Given the description of an element on the screen output the (x, y) to click on. 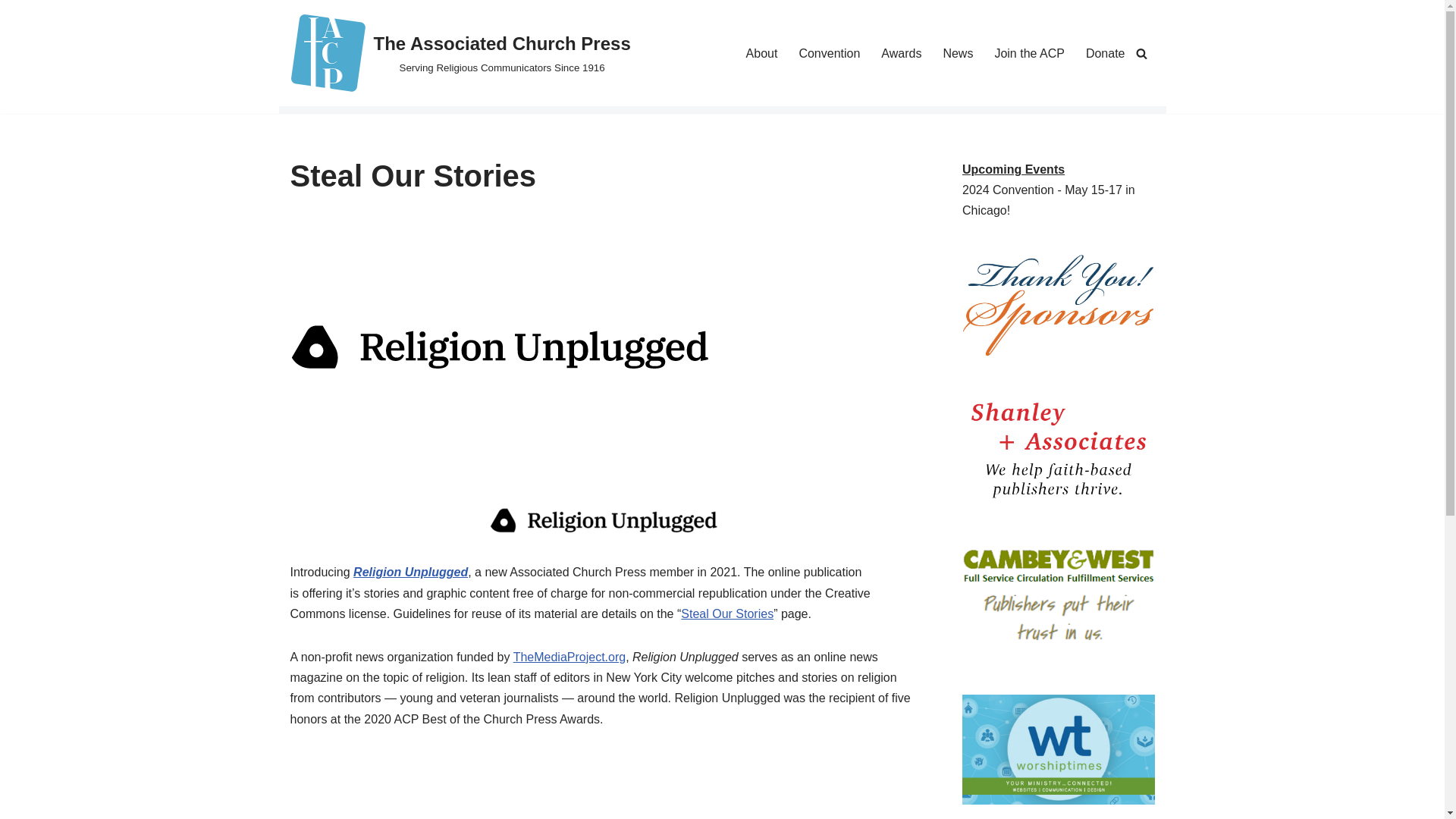
Convention (828, 53)
About (761, 53)
Awards (900, 53)
Join the ACP (1029, 53)
News (957, 53)
Steal Our Stories (727, 613)
TheMediaProject.org (569, 656)
Donate (1105, 53)
Skip to content (11, 31)
